Given the description of an element on the screen output the (x, y) to click on. 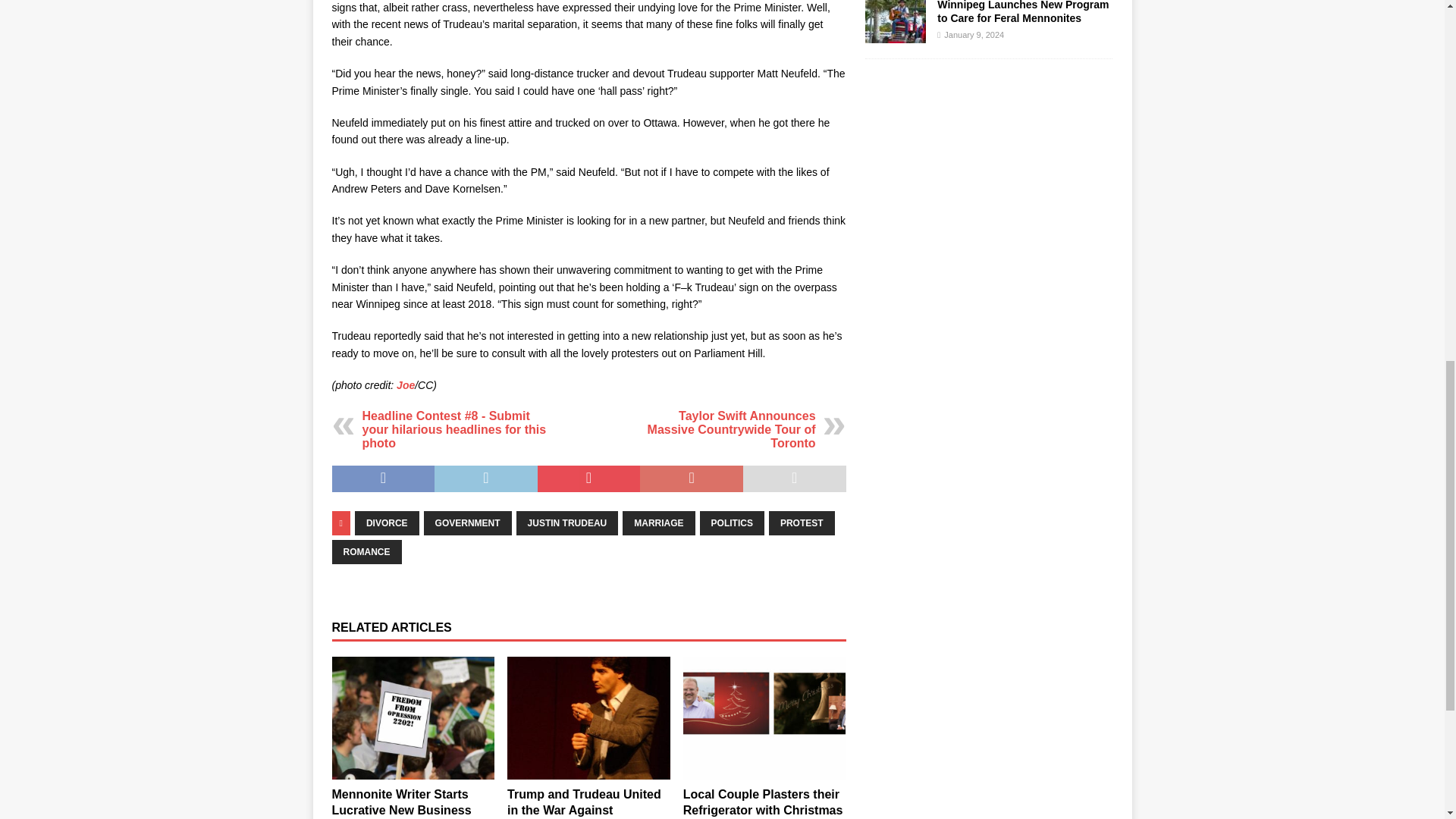
Joe (405, 385)
Trump and Trudeau United in the War Against Democracy (583, 803)
Trump and Trudeau United in the War Against Democracy (587, 717)
Taylor Swift Announces Massive Countrywide Tour of Toronto (731, 429)
